Given the description of an element on the screen output the (x, y) to click on. 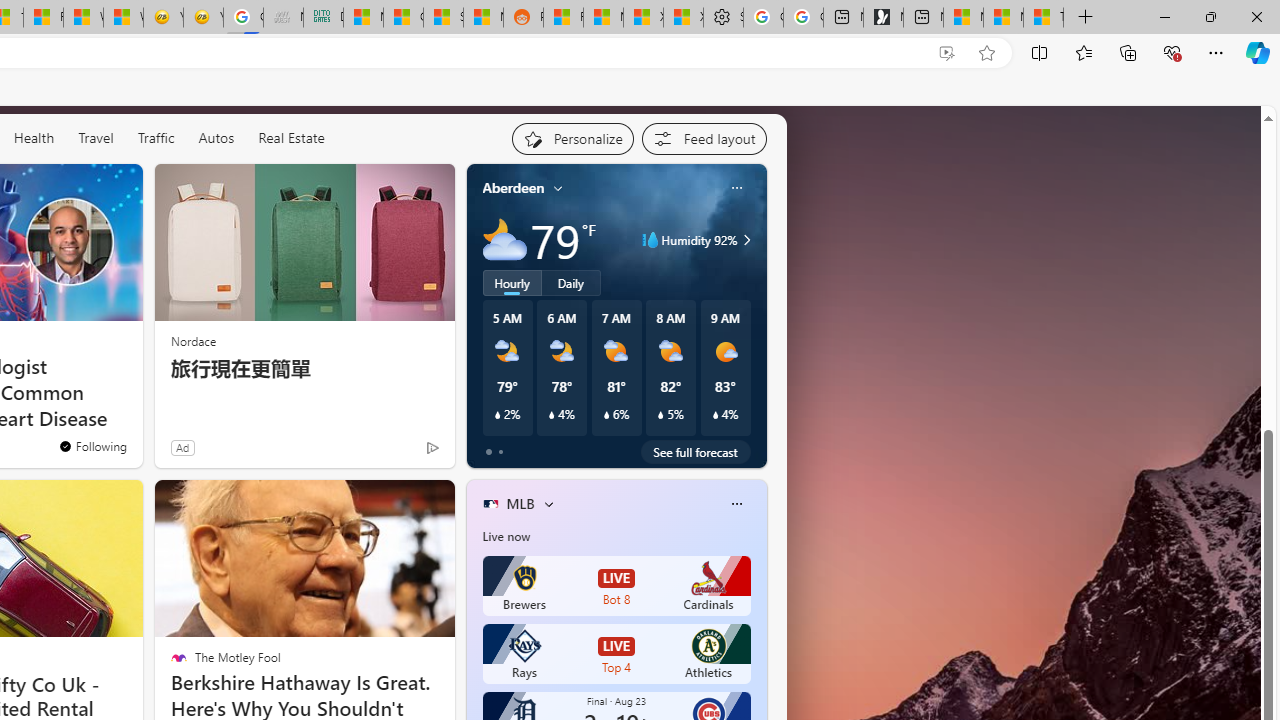
Autos (215, 137)
Autos (216, 138)
Enhance video (946, 53)
My location (558, 187)
tab-0 (488, 451)
Traffic (155, 138)
